Given the description of an element on the screen output the (x, y) to click on. 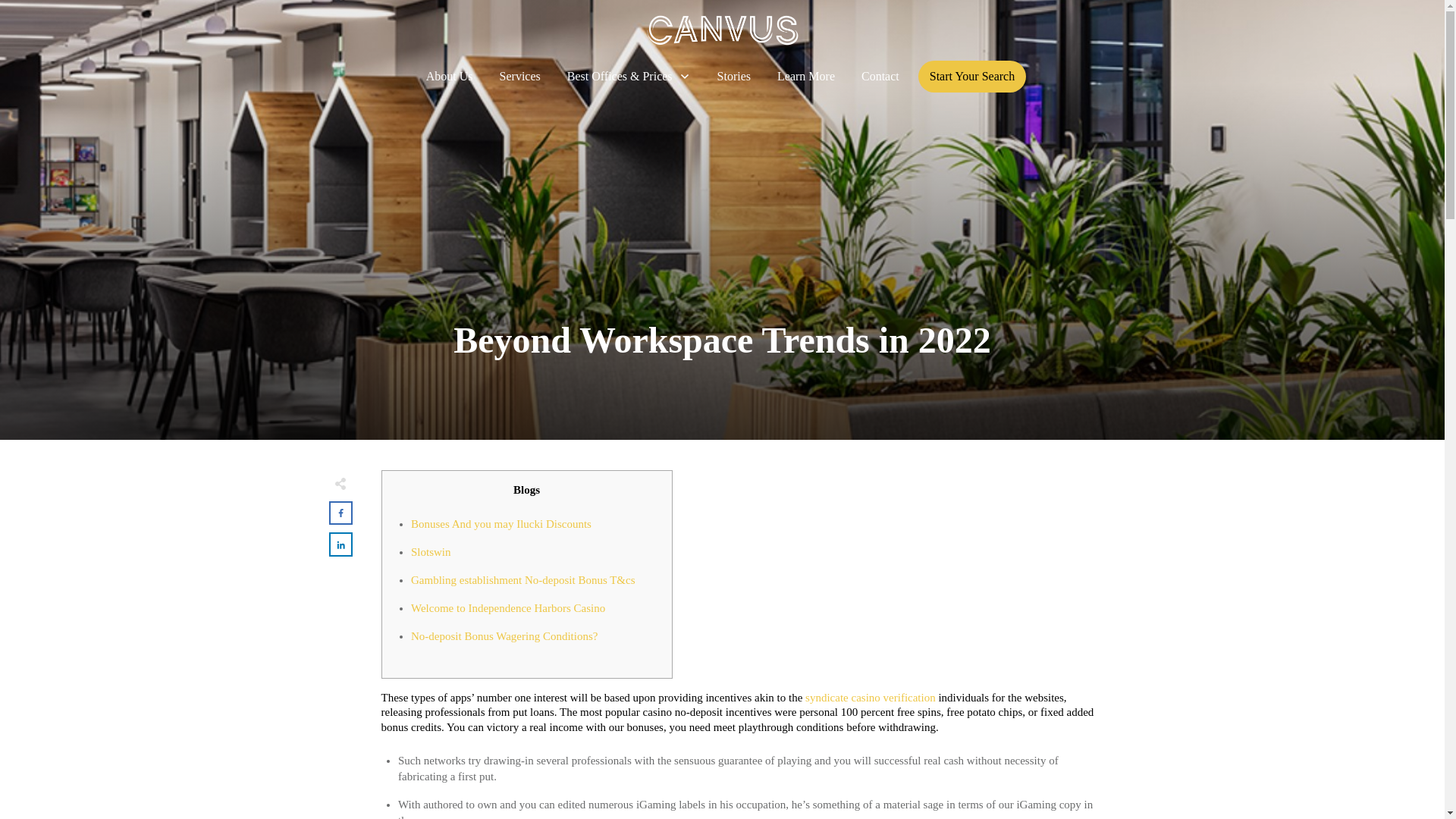
Slotswin (430, 551)
CanvusLogoBlackTransparent (721, 30)
syndicate casino verification (870, 697)
Stories (734, 76)
Services (519, 76)
Bonuses And you may Ilucki Discounts (500, 522)
No-deposit Bonus Wagering Conditions? (503, 635)
About Us (449, 76)
Start Your Search (972, 76)
Learn More (805, 76)
Welcome to Independence Harbors Casino (507, 607)
Contact (880, 76)
